Given the description of an element on the screen output the (x, y) to click on. 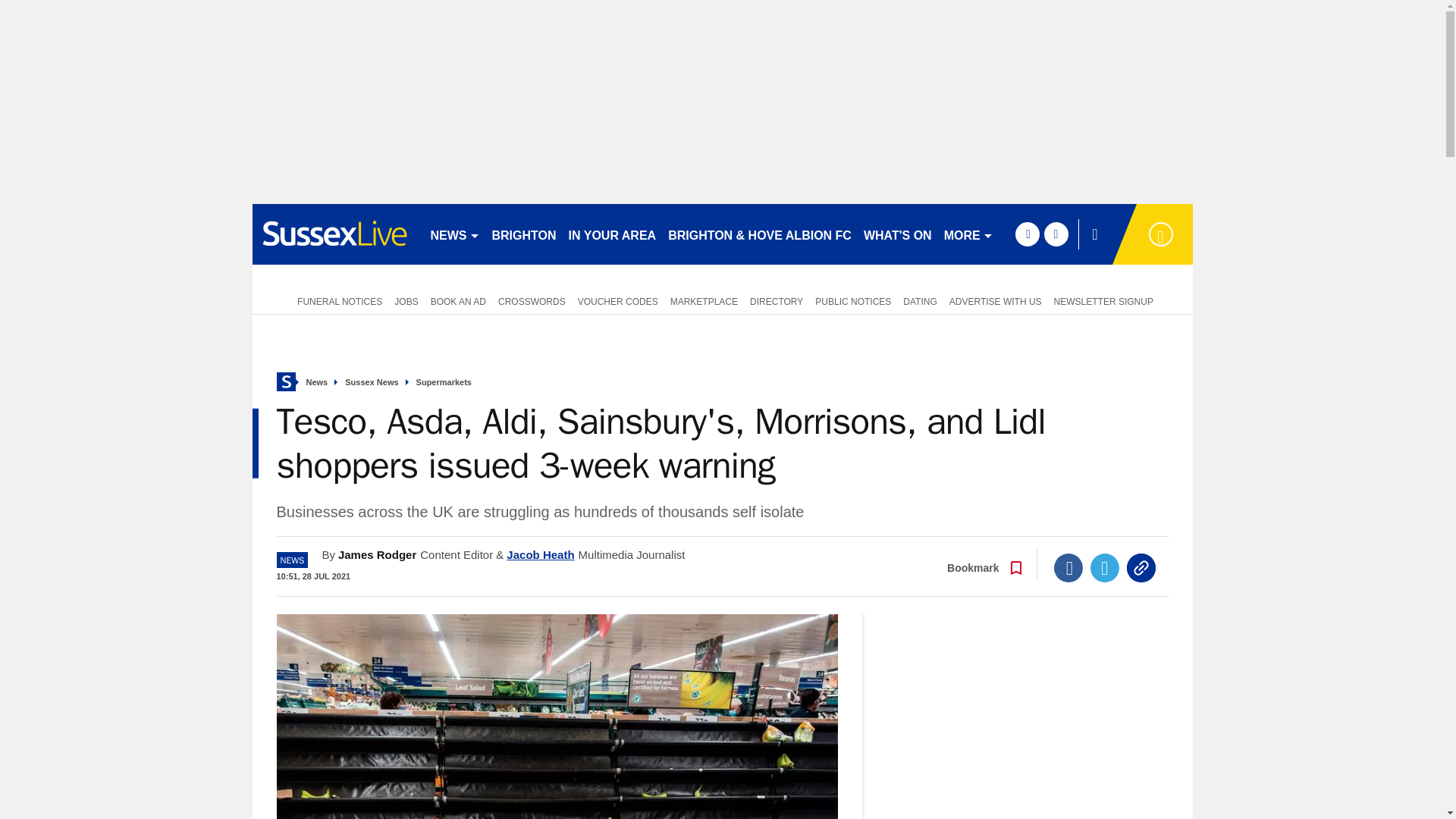
facebook (1026, 233)
WHAT'S ON (897, 233)
sussexlive (333, 233)
BOOK AN AD (458, 300)
JOBS (405, 300)
IN YOUR AREA (612, 233)
Facebook (1068, 567)
twitter (1055, 233)
CROSSWORDS (532, 300)
PUBLIC NOTICES (852, 300)
